Given the description of an element on the screen output the (x, y) to click on. 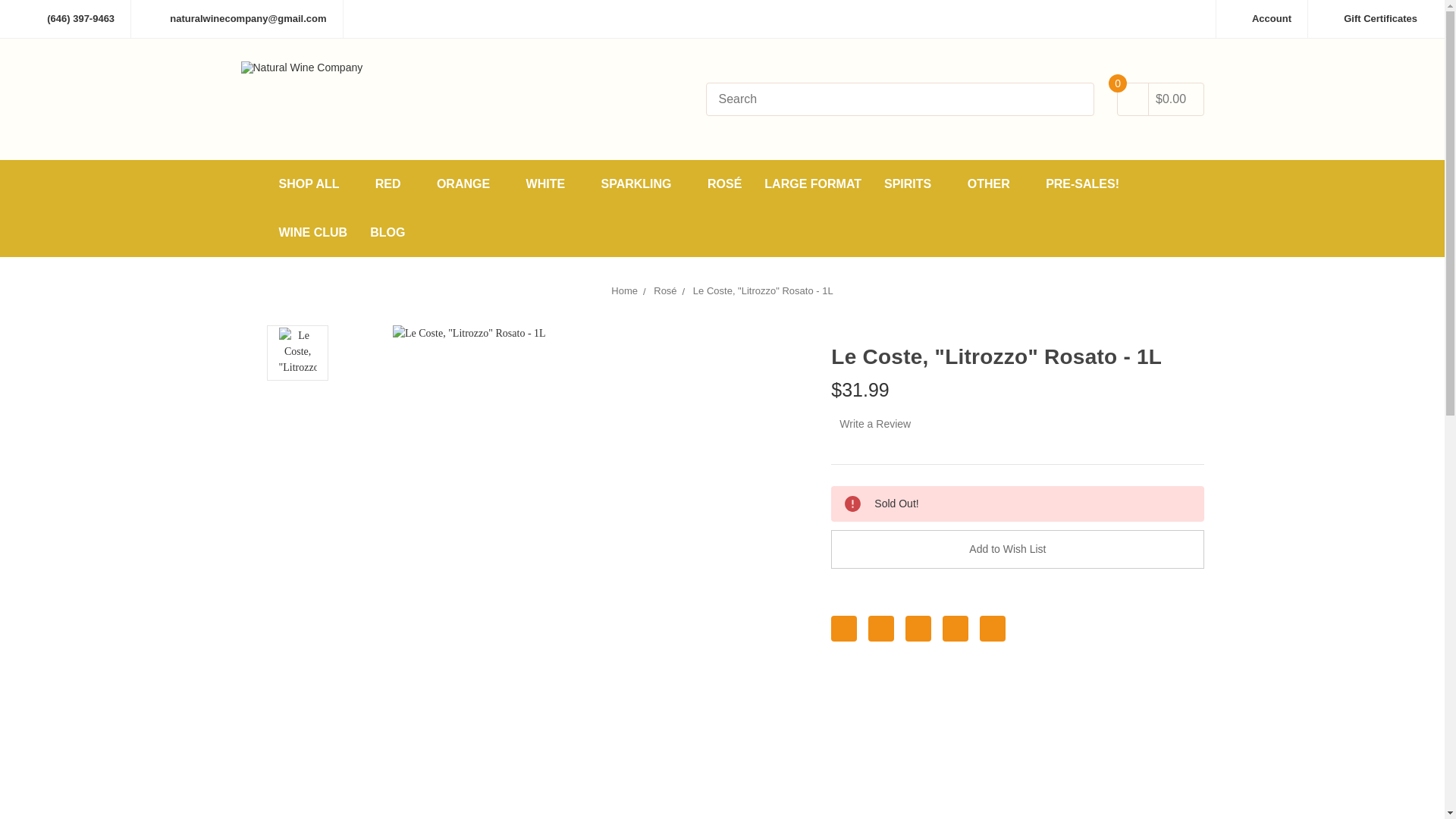
epicHeader.search (1071, 100)
Account (1261, 18)
Gift Certificates (1369, 18)
Natural Wine Company (301, 99)
